Given the description of an element on the screen output the (x, y) to click on. 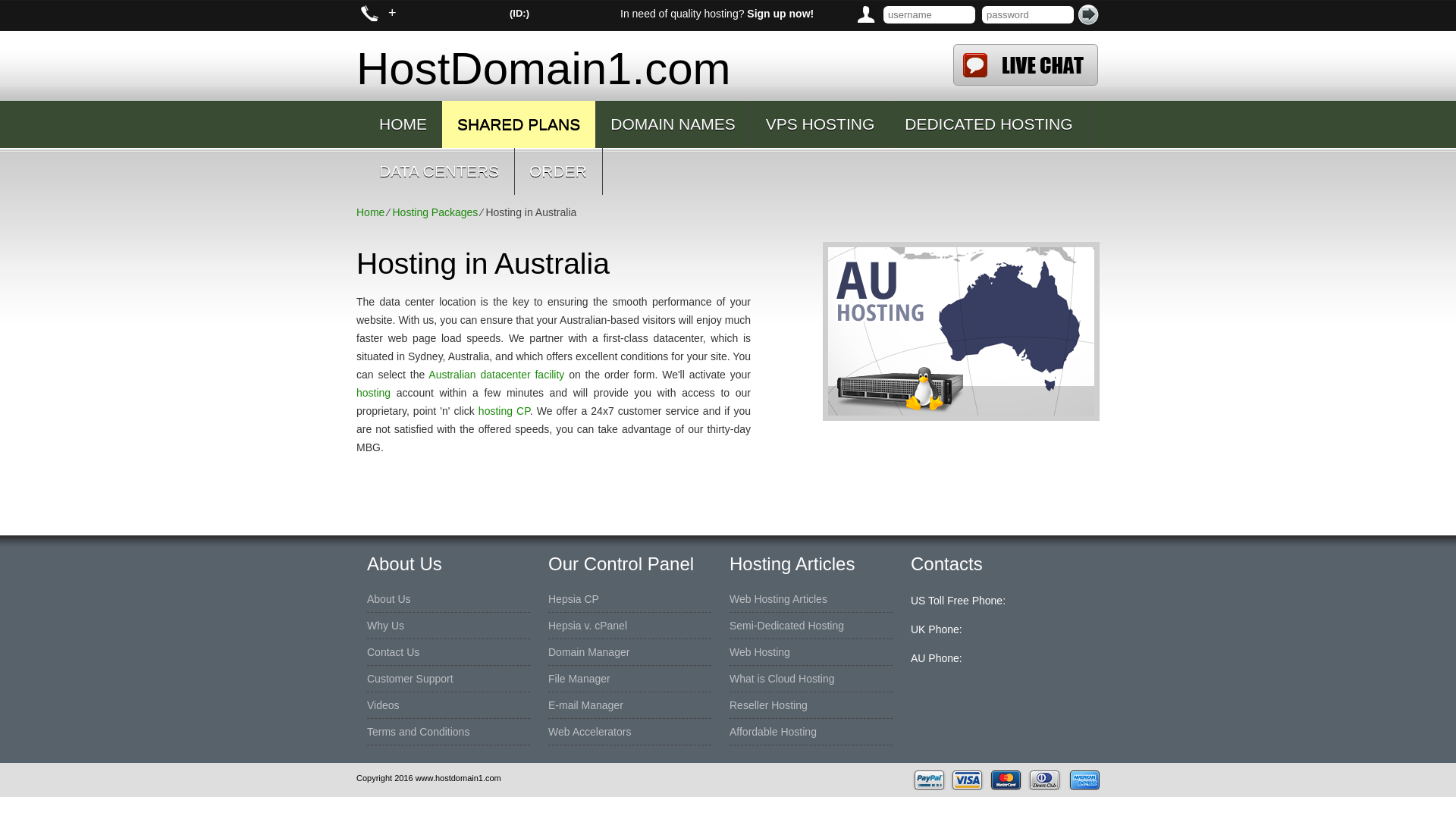
SHARED PLANS (518, 124)
hosting (373, 392)
ORDER (557, 171)
HostDomain1.com (640, 64)
Australian datacenter facility (496, 374)
DEDICATED HOSTING (988, 124)
DOMAIN NAMES (673, 124)
Hosting Packages (434, 212)
Why Us (385, 625)
hosting CP (504, 410)
DATA CENTERS (438, 171)
Terms and Conditions (417, 731)
VPS HOSTING (820, 124)
Home (370, 212)
